Given the description of an element on the screen output the (x, y) to click on. 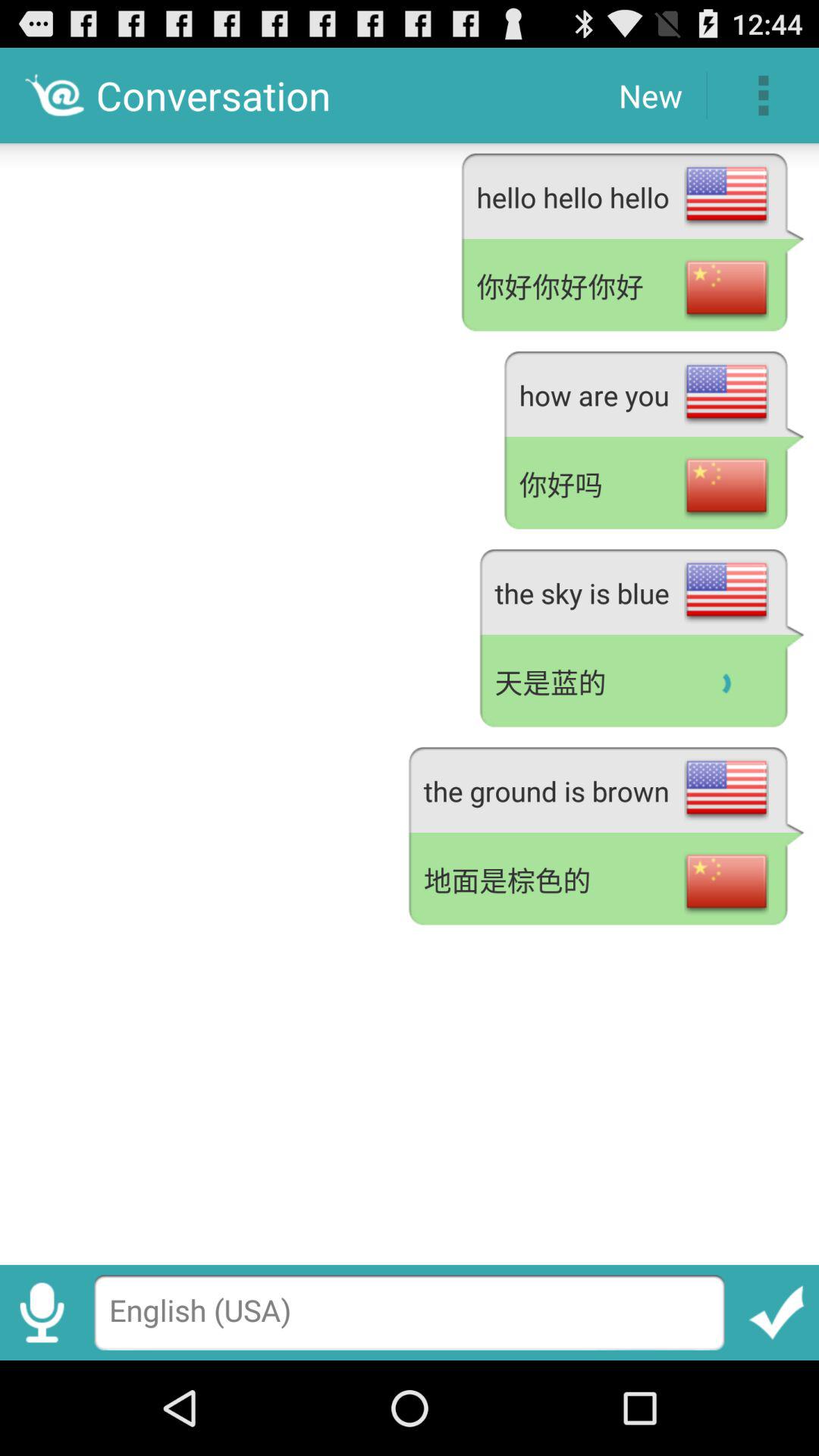
tap the app above the the ground is app (641, 682)
